Given the description of an element on the screen output the (x, y) to click on. 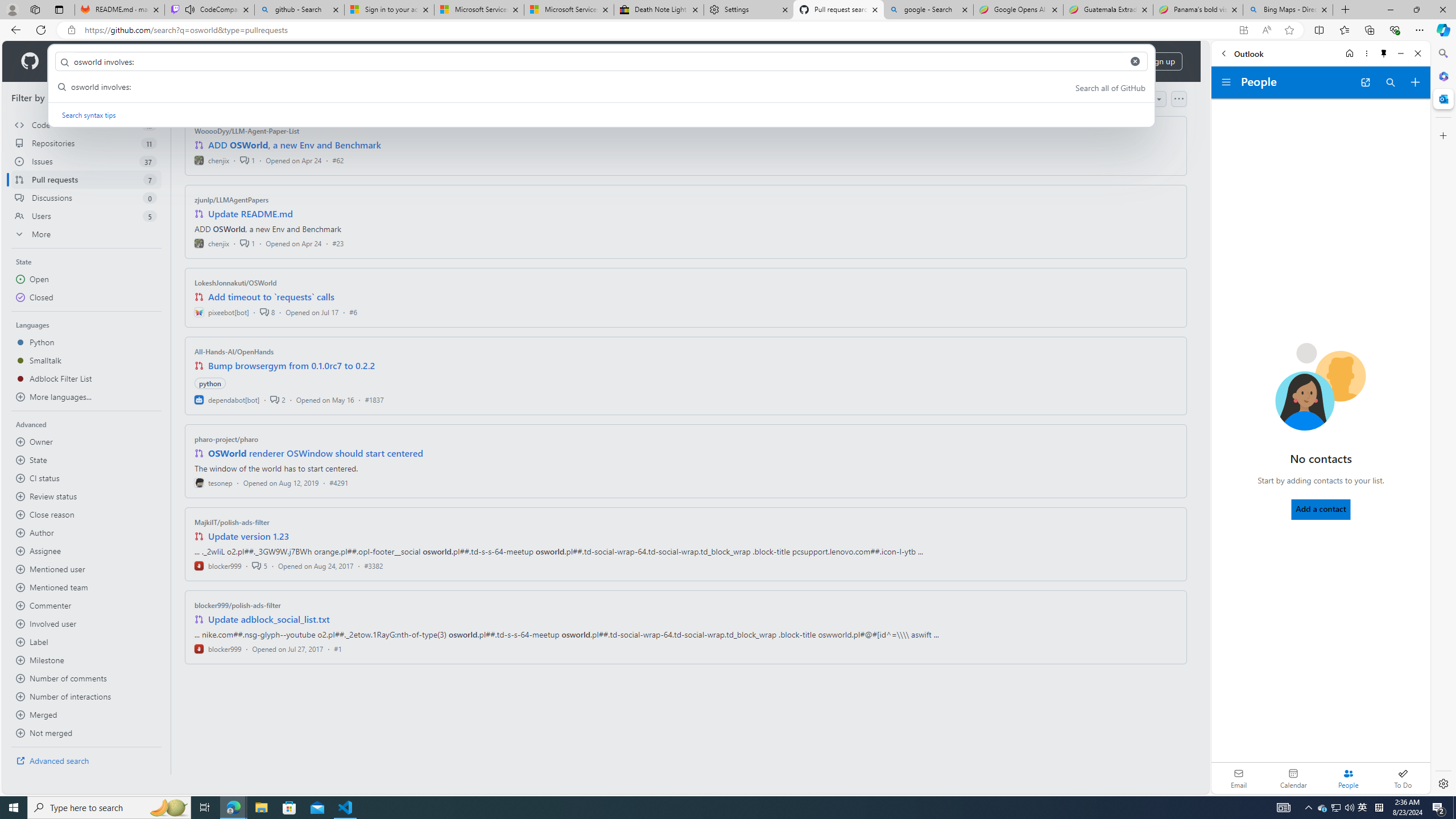
OSWorld renderer OSWindow should start centered (315, 453)
#1837 (374, 398)
All-Hands-AI/OpenHands (234, 351)
pixeebot[bot] (221, 311)
dependabot[bot] (227, 398)
